Given the description of an element on the screen output the (x, y) to click on. 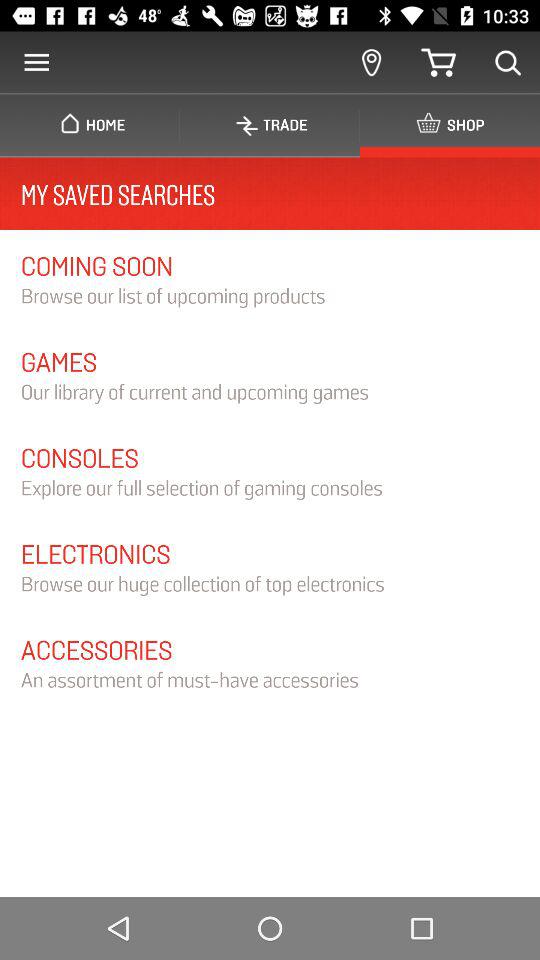
turn off the icon above the shop (508, 62)
